Given the description of an element on the screen output the (x, y) to click on. 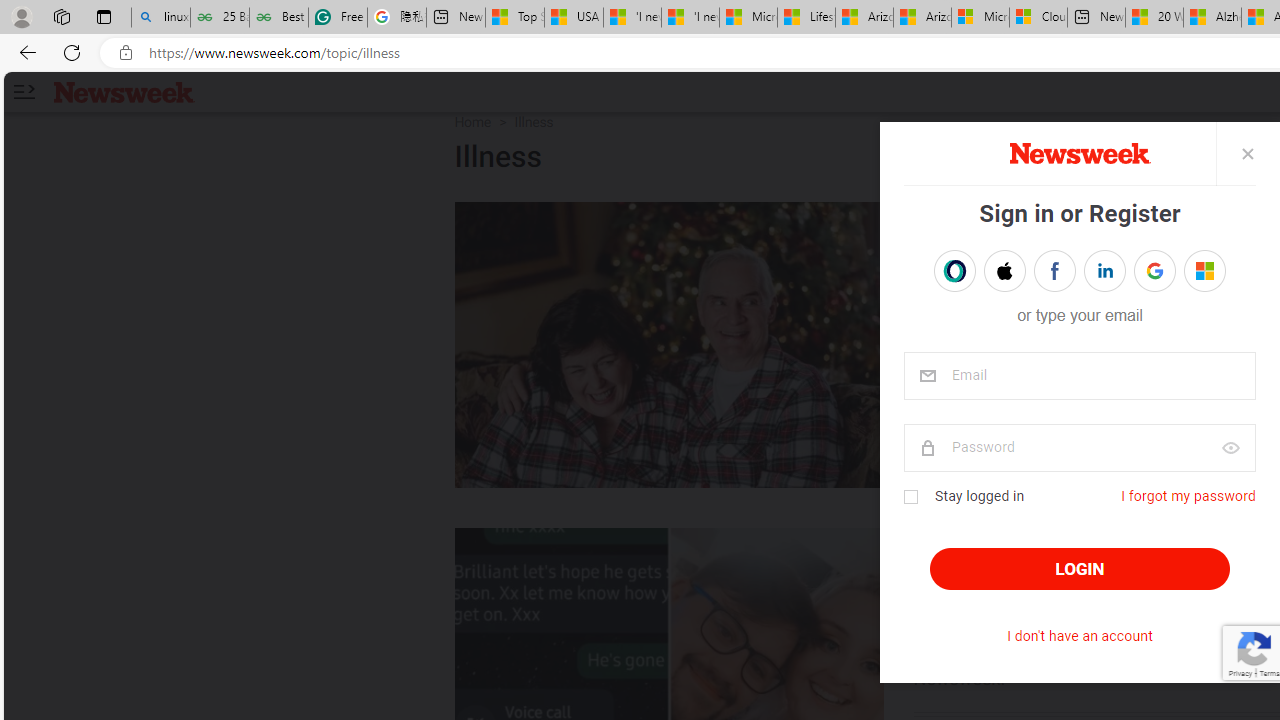
AutomationID: side-arrow (23, 92)
email (1078, 376)
LOGIN (1079, 569)
25 Basic Linux Commands For Beginners - GeeksforGeeks (219, 17)
Newsweek logo (123, 91)
Cloud Computing Services | Microsoft Azure (1038, 17)
USA TODAY - MSN (573, 17)
20 Ways to Boost Your Protein Intake at Every Meal (1154, 17)
